Given the description of an element on the screen output the (x, y) to click on. 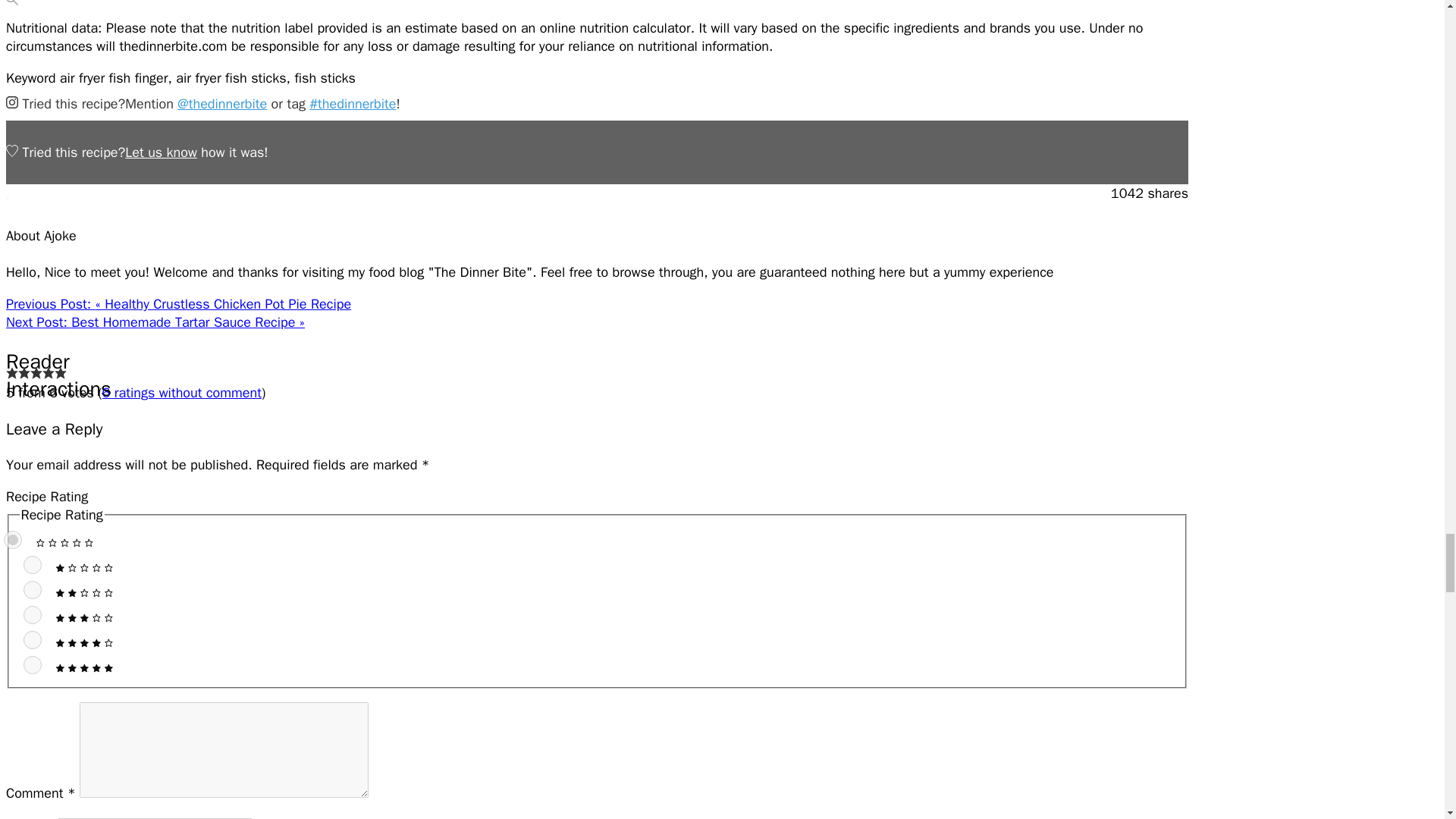
4 (31, 639)
3 (31, 615)
2 (31, 589)
0 (11, 539)
1 (31, 565)
5 (31, 665)
